Given the description of an element on the screen output the (x, y) to click on. 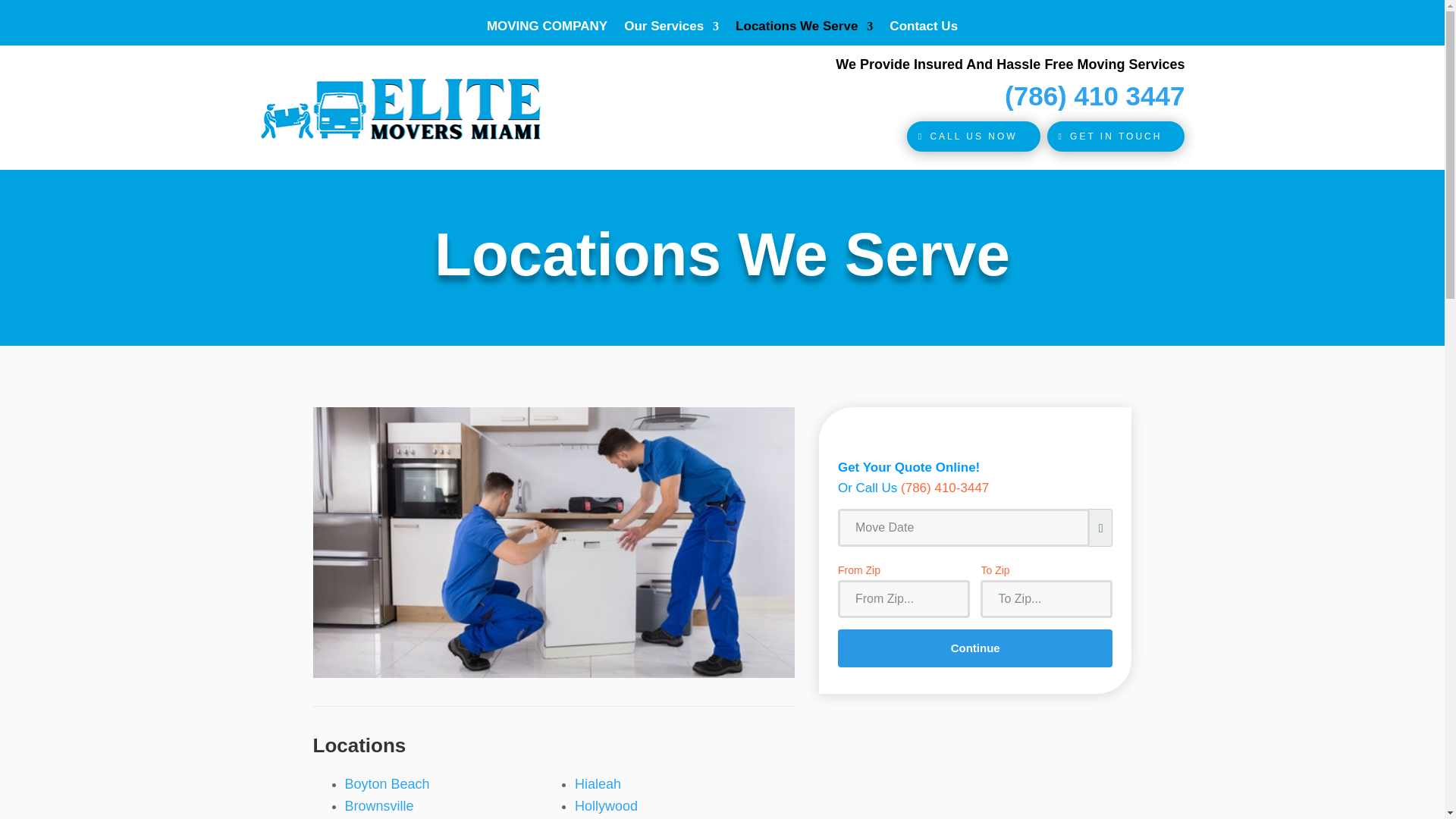
Locations We Serve (803, 29)
Contact Us (923, 29)
Elite-Movers-Miami-Logo-optimized (401, 108)
MOVING COMPANY (546, 29)
COMMERCIAL-MOVES-IMAGE-1-1 (553, 542)
Our Services (671, 29)
